Given the description of an element on the screen output the (x, y) to click on. 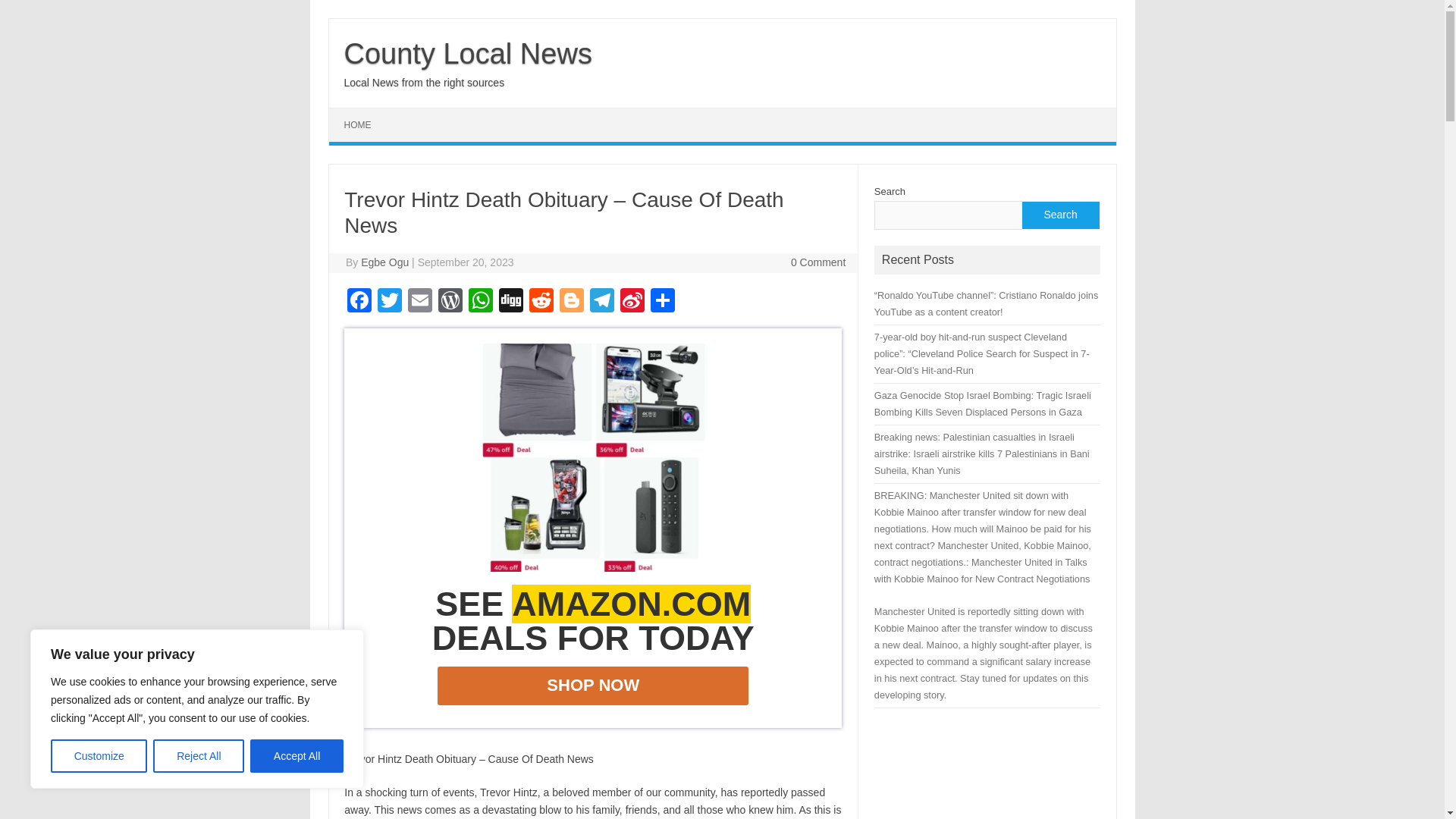
WhatsApp (480, 302)
Customize (98, 756)
Telegram (601, 302)
Digg (510, 302)
WordPress (450, 302)
Local News from the right sources (424, 82)
Blogger (571, 302)
County Local News (467, 53)
HOME (358, 124)
Sina Weibo (632, 302)
